Given the description of an element on the screen output the (x, y) to click on. 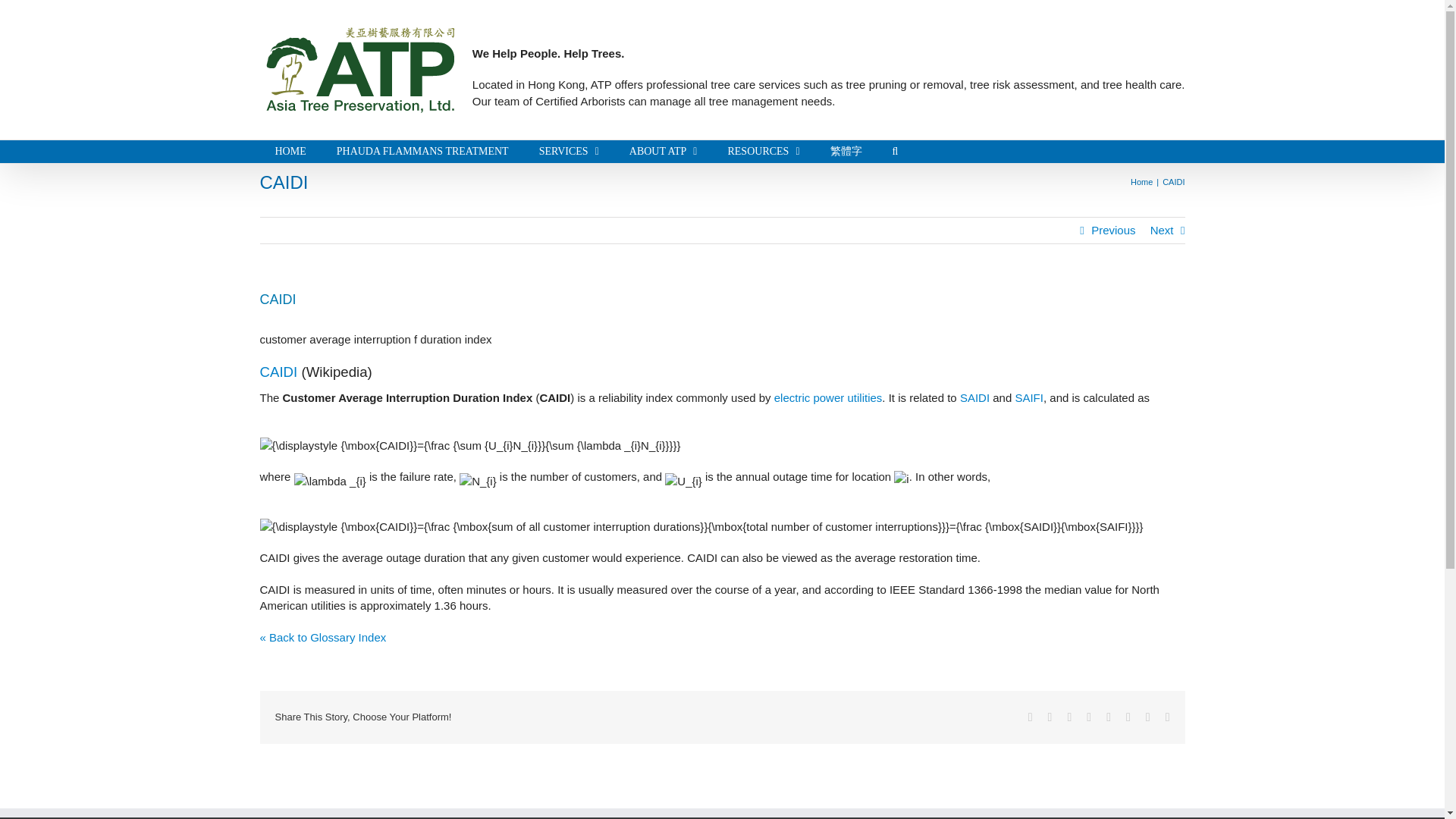
ABOUT ATP (663, 151)
SAIFI (1028, 397)
RESOURCES (762, 151)
Search (895, 151)
SAIDI (974, 397)
PHAUDA FLAMMANS TREATMENT (422, 151)
Electric power (809, 397)
SERVICES (569, 151)
Utilities (864, 397)
HOME (289, 151)
